Given the description of an element on the screen output the (x, y) to click on. 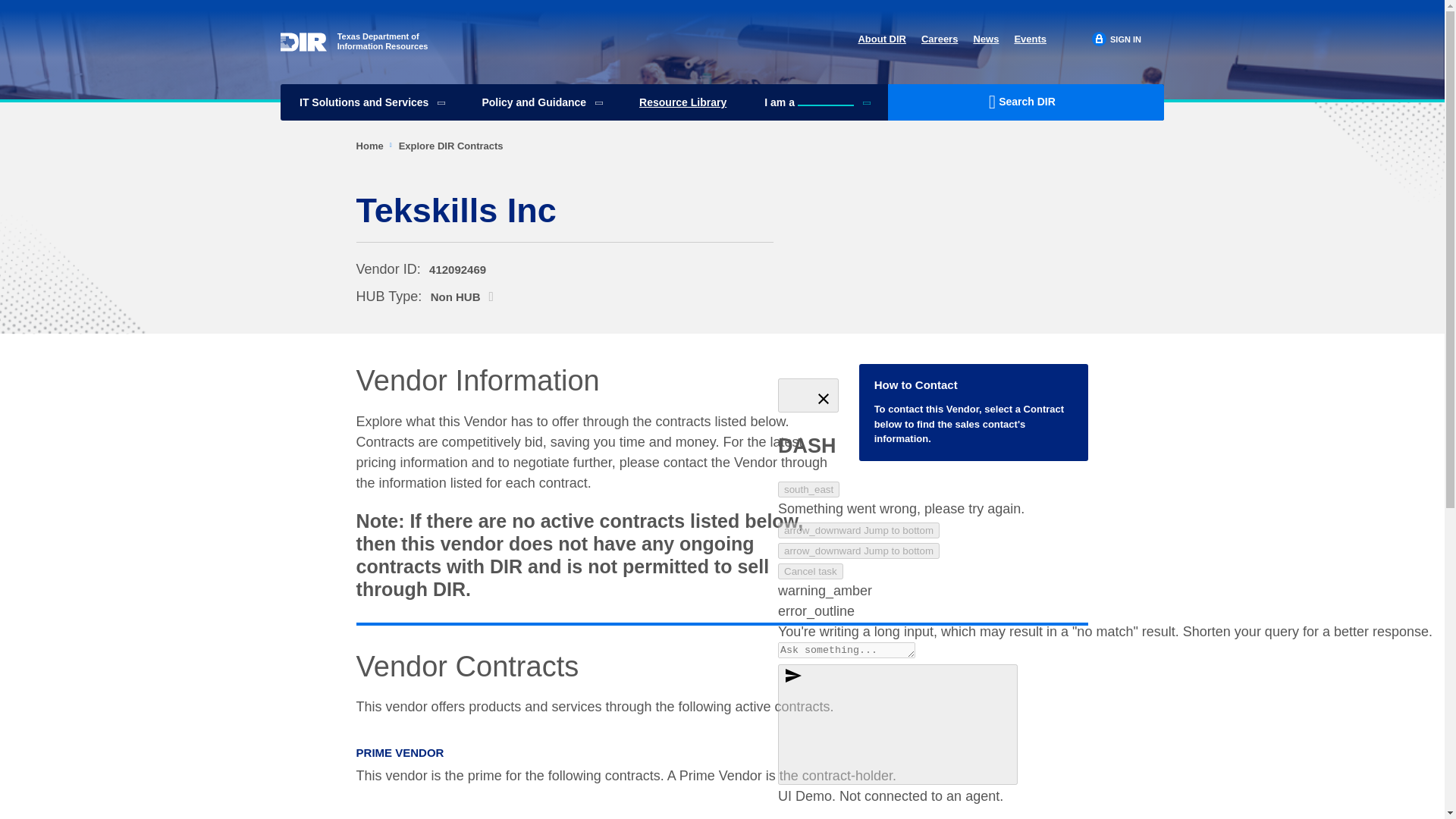
Careers (939, 39)
SIGN IN (1116, 39)
News (985, 39)
Skip to main content (721, 1)
Policy and Guidance (541, 102)
Events (1029, 39)
About DIR (881, 39)
IT Solutions and Services (354, 39)
